Given the description of an element on the screen output the (x, y) to click on. 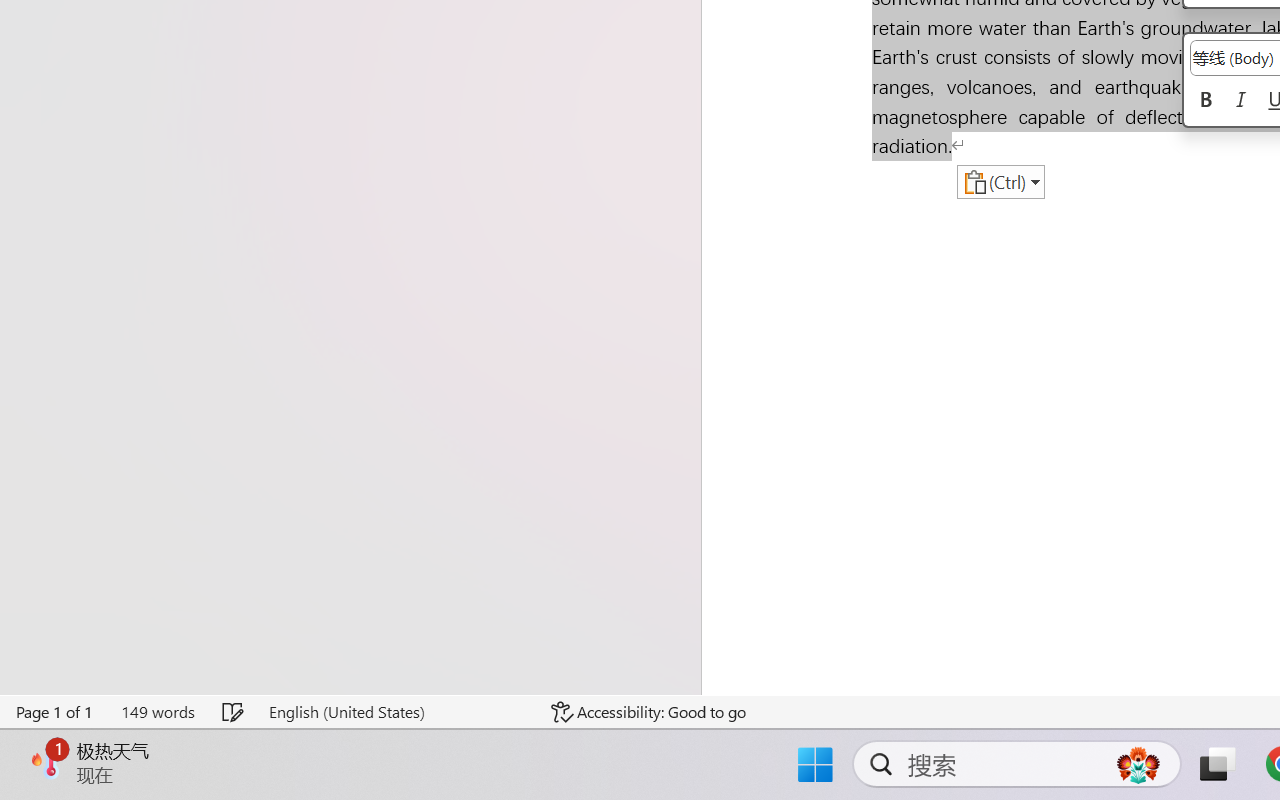
Spelling and Grammar Check Checking (234, 712)
Bold (1206, 101)
Action: Paste alternatives (1000, 181)
Italic (1240, 101)
